Given the description of an element on the screen output the (x, y) to click on. 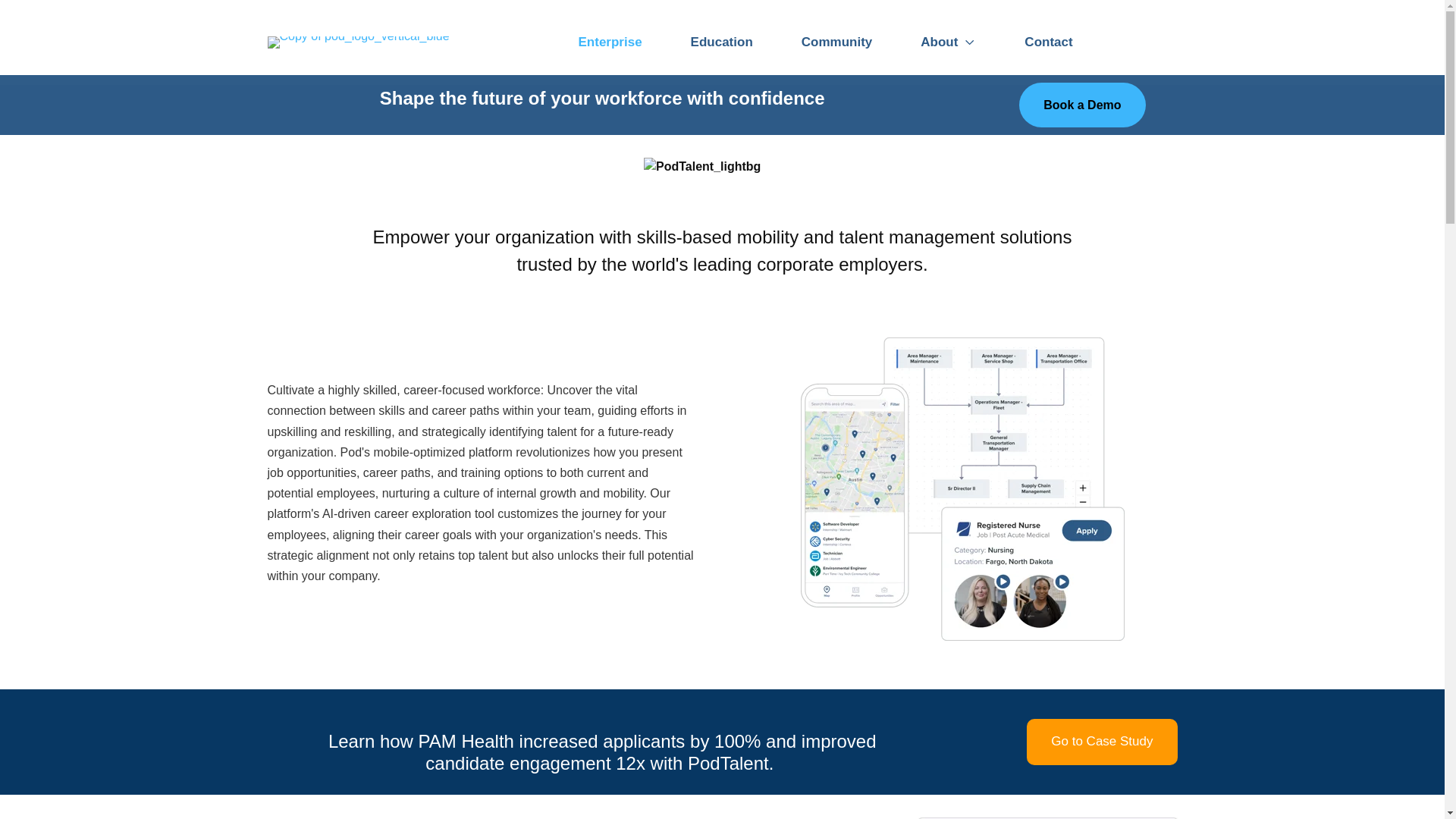
Community (836, 42)
Contact (1048, 42)
Education (721, 42)
candidate-1 (962, 488)
About (948, 42)
Enterprise (609, 42)
Book a Demo (1081, 104)
Go to Case Study (1101, 741)
